Given the description of an element on the screen output the (x, y) to click on. 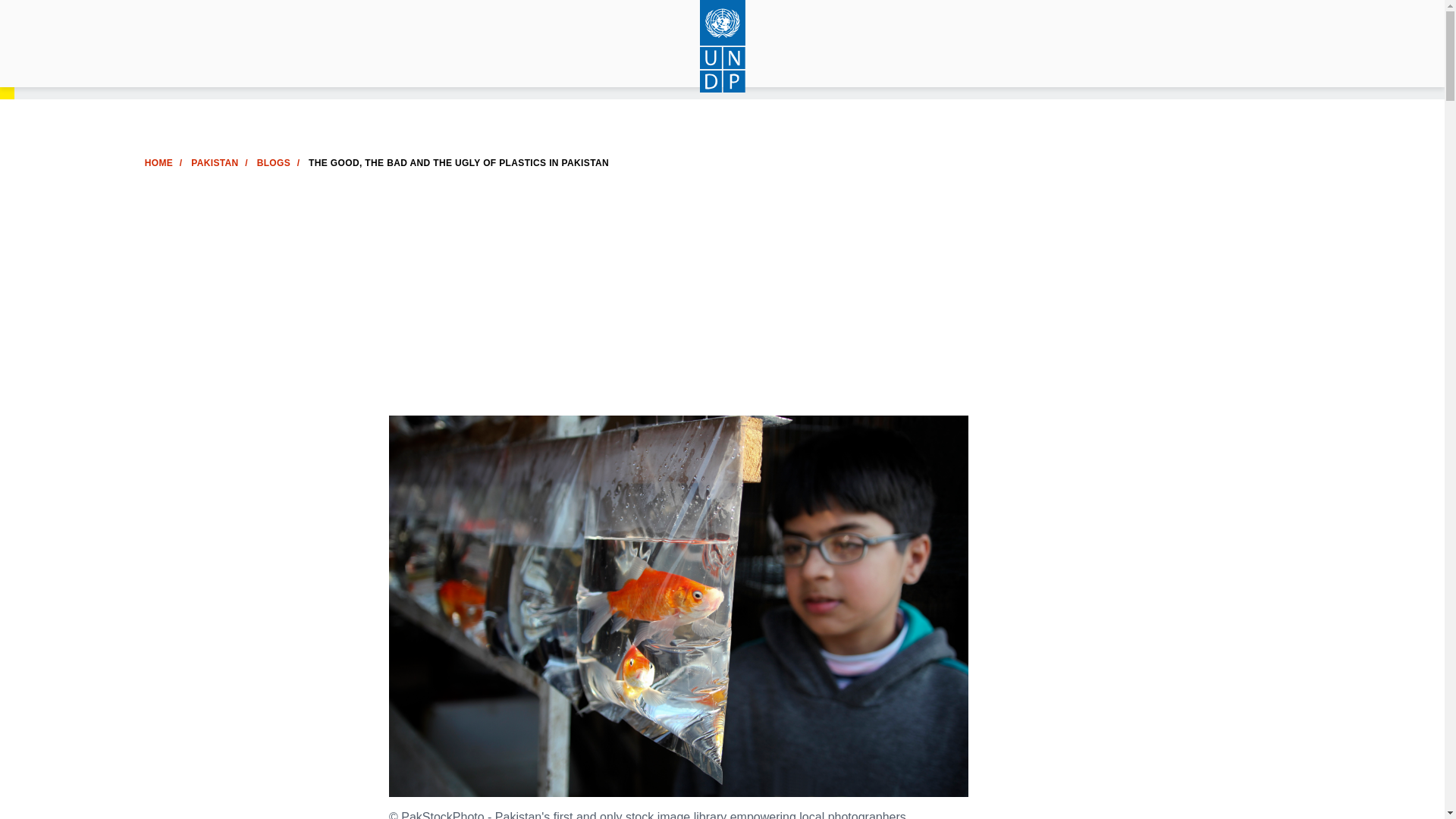
HOME (158, 163)
PAKISTAN (214, 163)
BLOGS (273, 163)
